Given the description of an element on the screen output the (x, y) to click on. 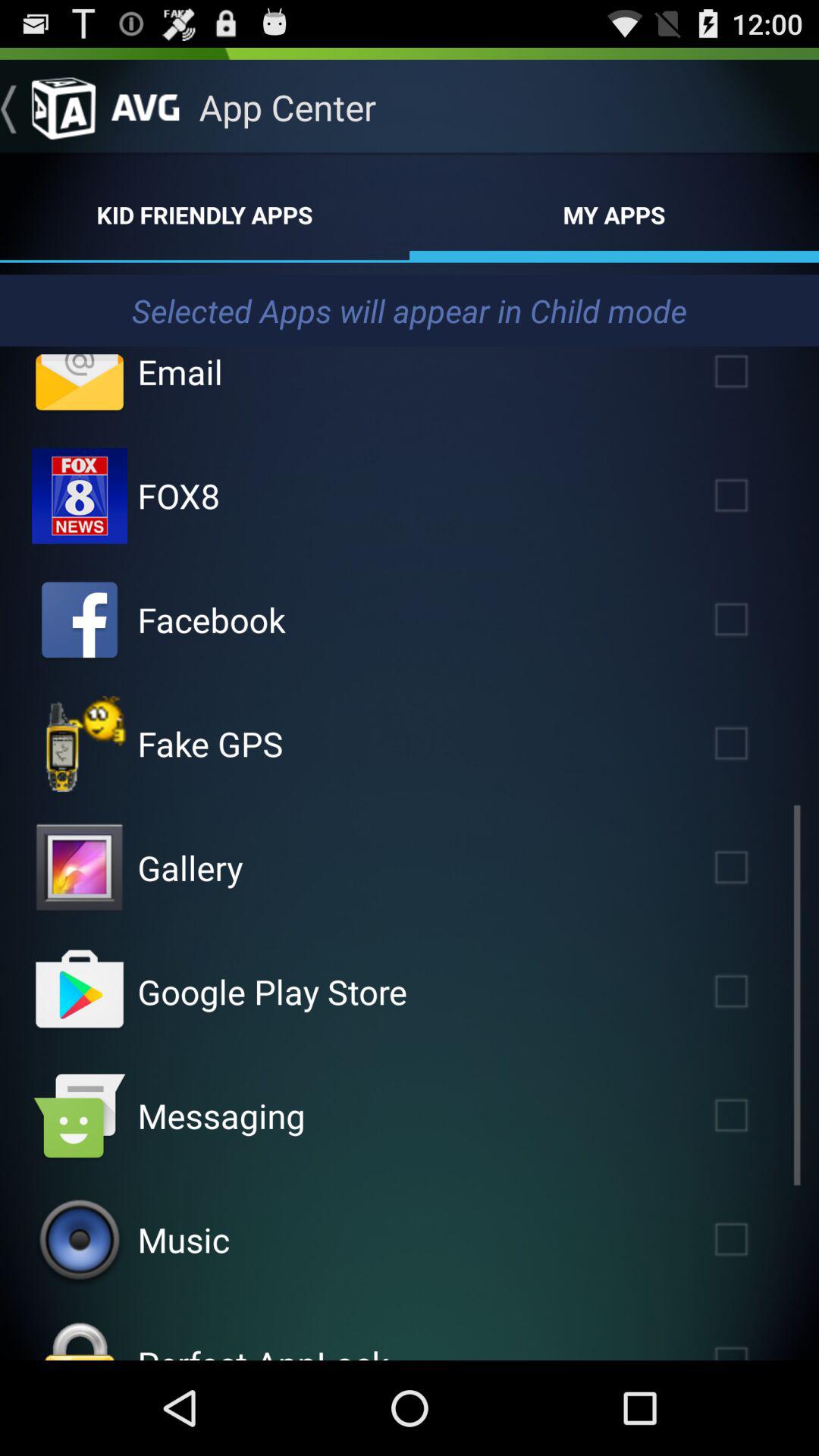
activate fake gps app (753, 743)
